Given the description of an element on the screen output the (x, y) to click on. 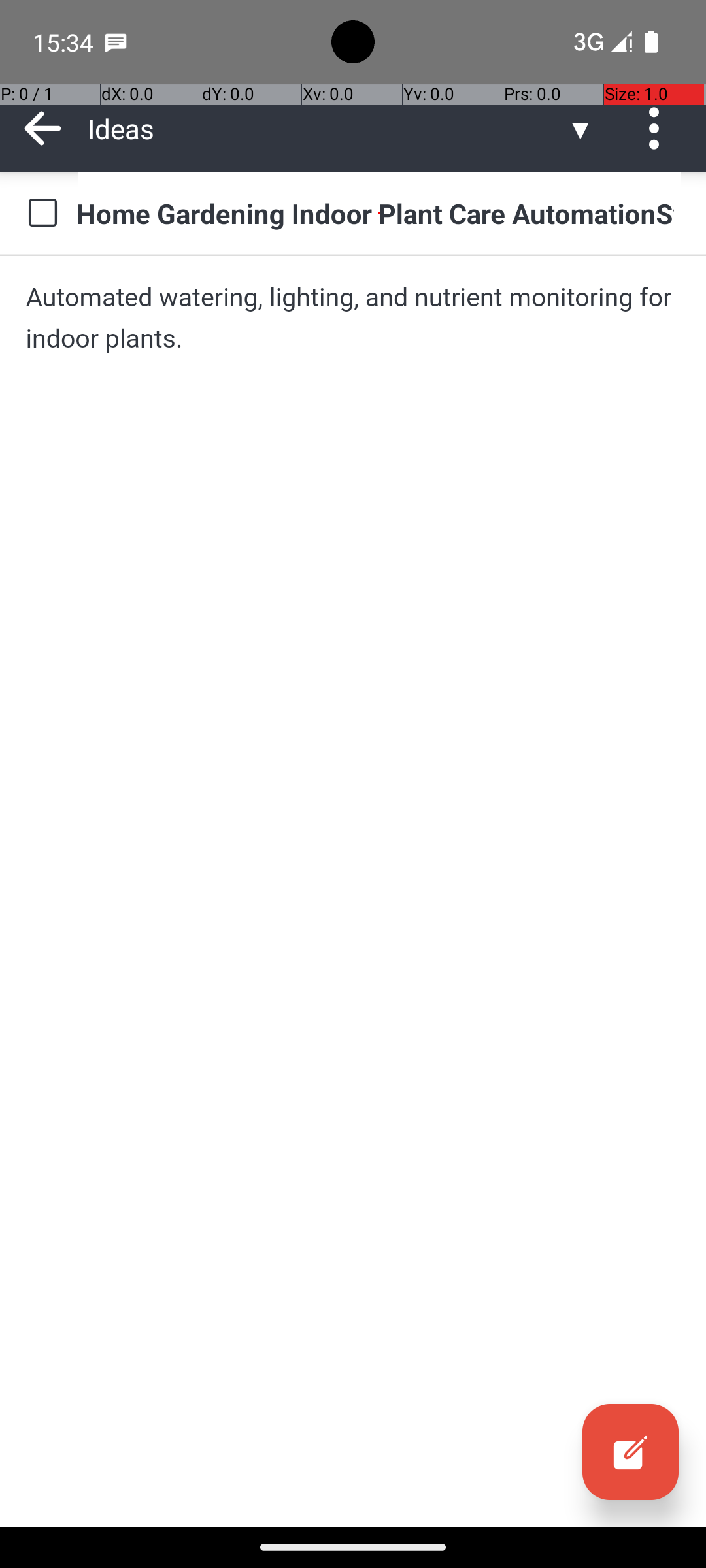
Smart Home Gardening Indoor Plant Care AutomationSystem Element type: android.widget.EditText (378, 213)
Edit, collapsed Element type: android.widget.Button (630, 1452)
 Element type: android.widget.TextView (42, 127)
Ideas Element type: android.widget.TextView (326, 128)
▼ Element type: android.widget.TextView (580, 128)
Actions Element type: android.view.ViewGroup (658, 127)
 Element type: android.widget.TextView (630, 1451)
 Element type: android.widget.TextView (658, 127)
Automated watering, lighting, and nutrient monitoring for indoor plants. Element type: android.widget.TextView (352, 317)
SMS Messenger notification: +10214033213 Element type: android.widget.ImageView (115, 41)
